Given the description of an element on the screen output the (x, y) to click on. 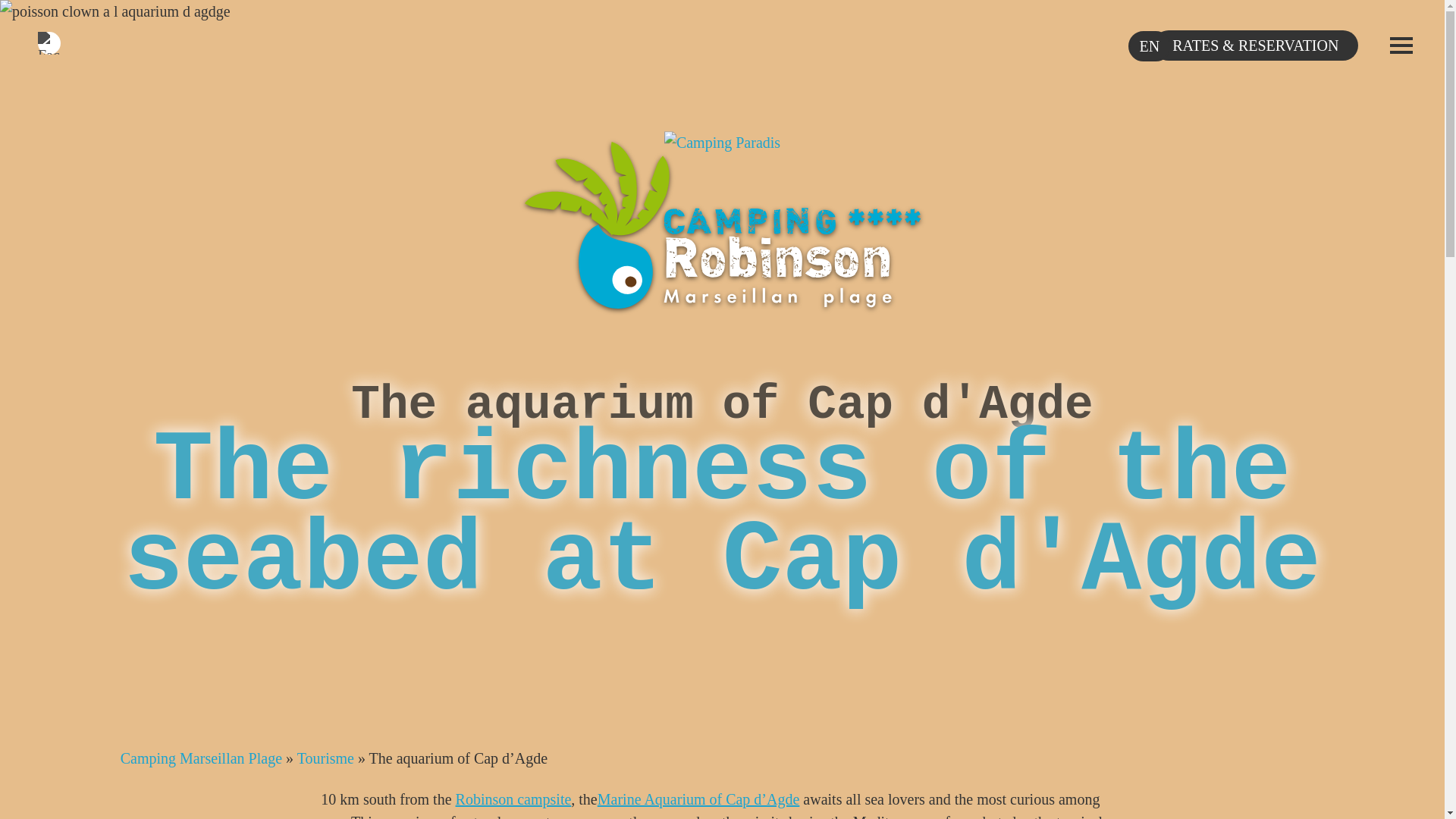
EN (1149, 46)
Robinson campsite (513, 799)
Tourisme (325, 758)
Camping Marseillan Plage (201, 758)
